Given the description of an element on the screen output the (x, y) to click on. 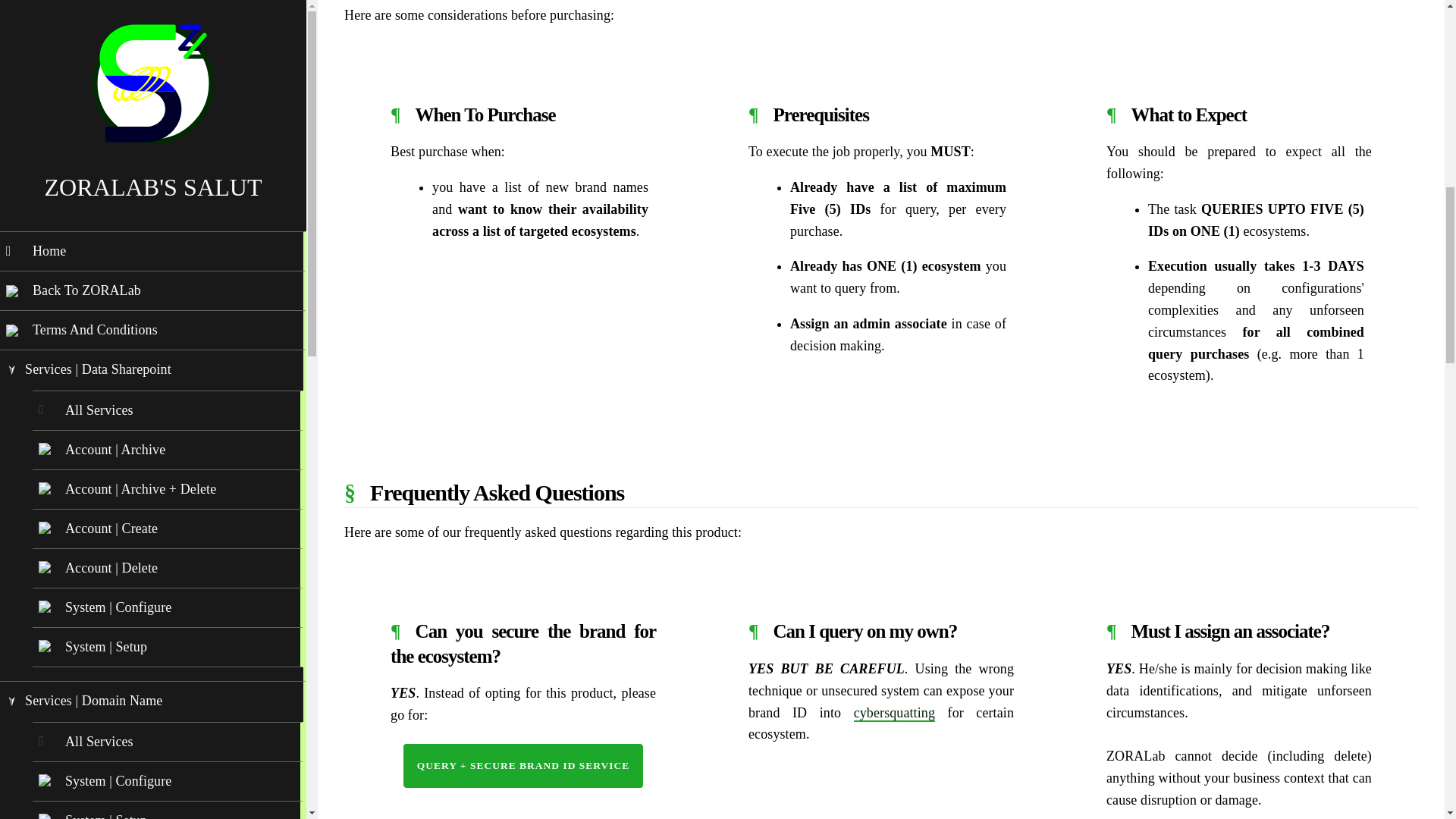
cybersquatting (893, 713)
Reformat (166, 546)
Setup (166, 624)
